Given the description of an element on the screen output the (x, y) to click on. 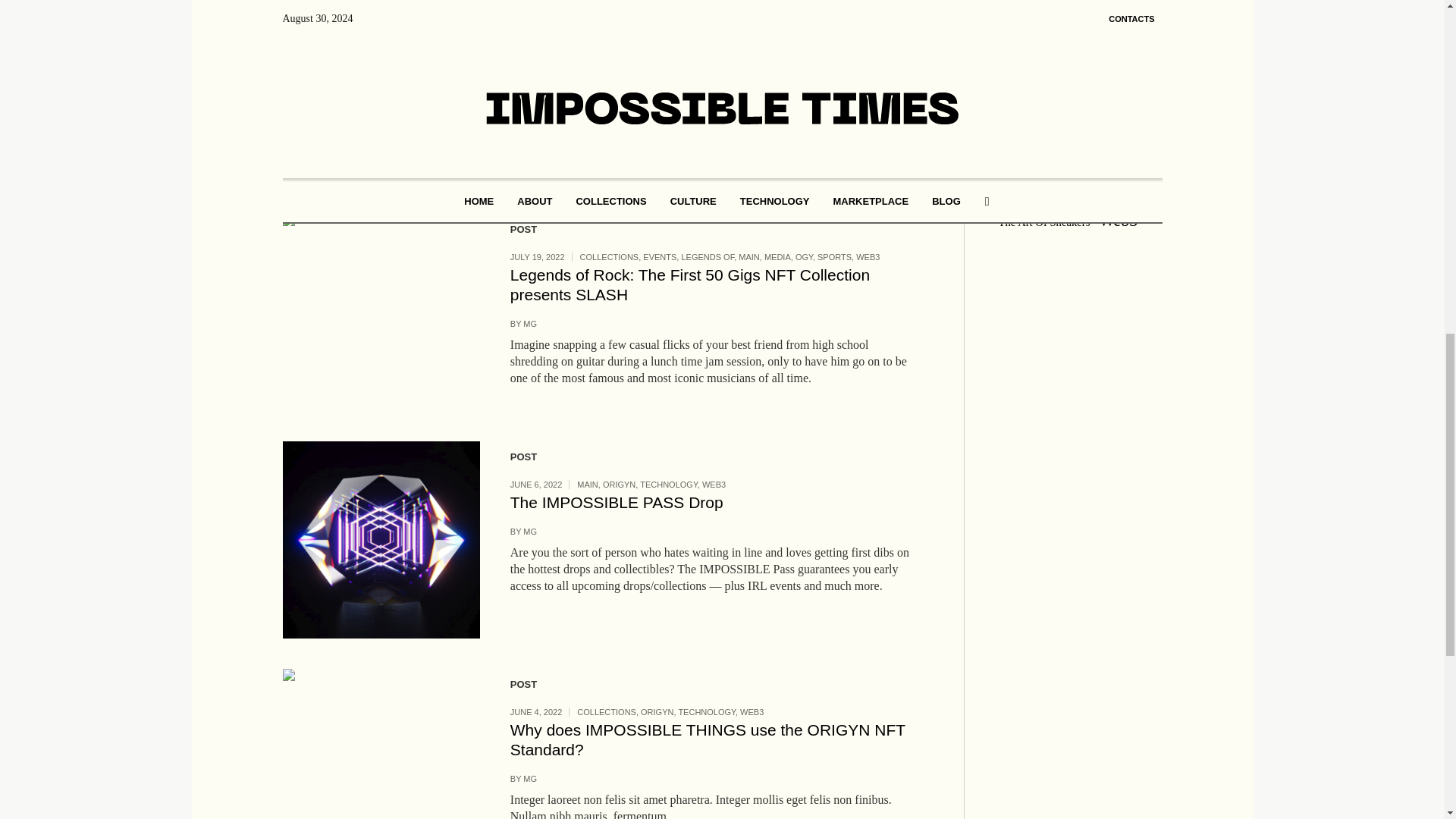
MG (529, 76)
Posts by MG (529, 76)
MAIN (776, 29)
Welcome to IMPOSSIBLE Times (380, 91)
July 29, 2022 (537, 29)
TECHNOLOGY (819, 29)
Welcome to IMPOSSIBLE Times (626, 47)
ARTS (590, 29)
LIFESTYLE (739, 29)
FAMILY (620, 29)
